Given the description of an element on the screen output the (x, y) to click on. 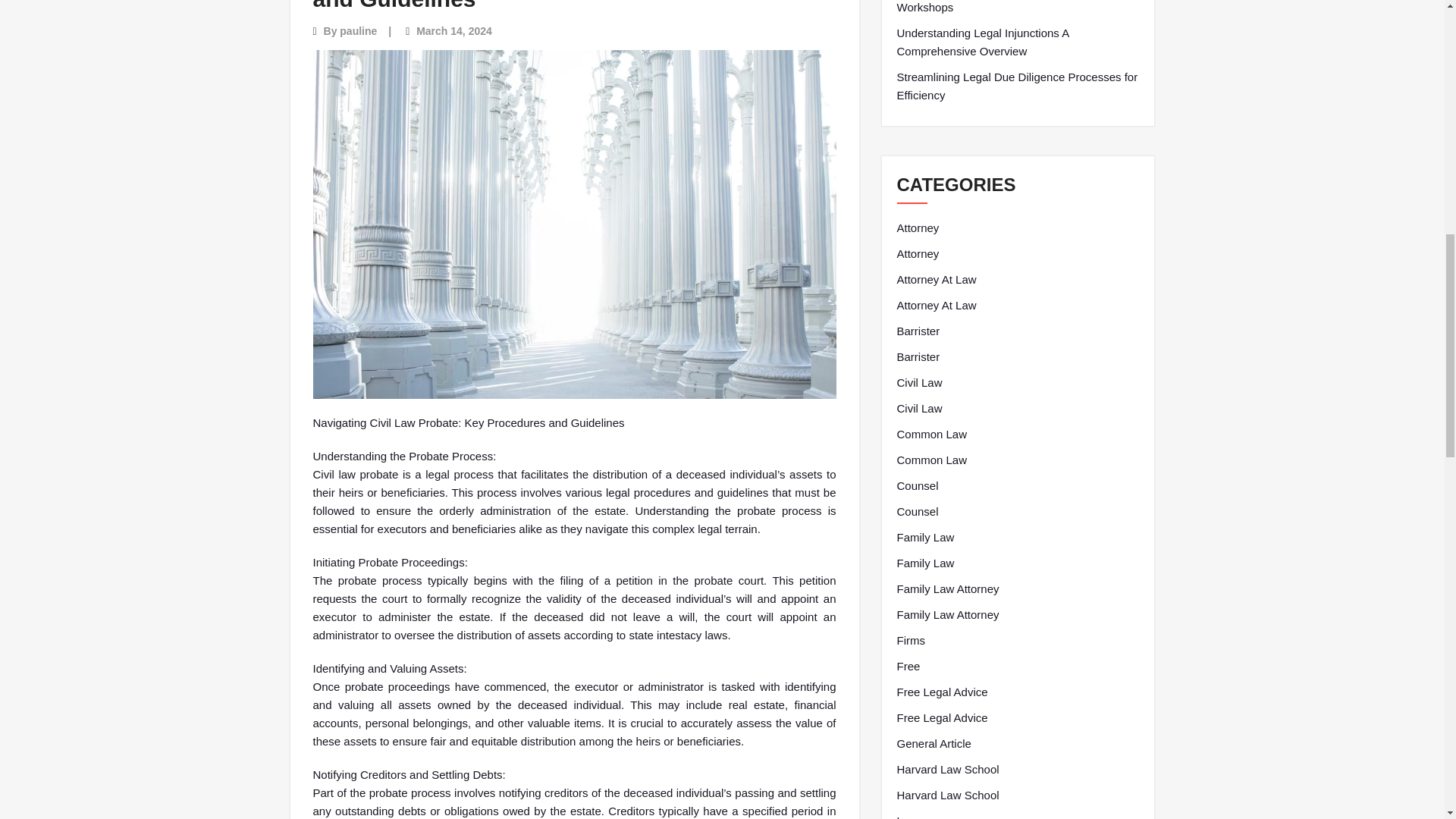
March 14, 2024 (454, 30)
pauline (358, 30)
